Given the description of an element on the screen output the (x, y) to click on. 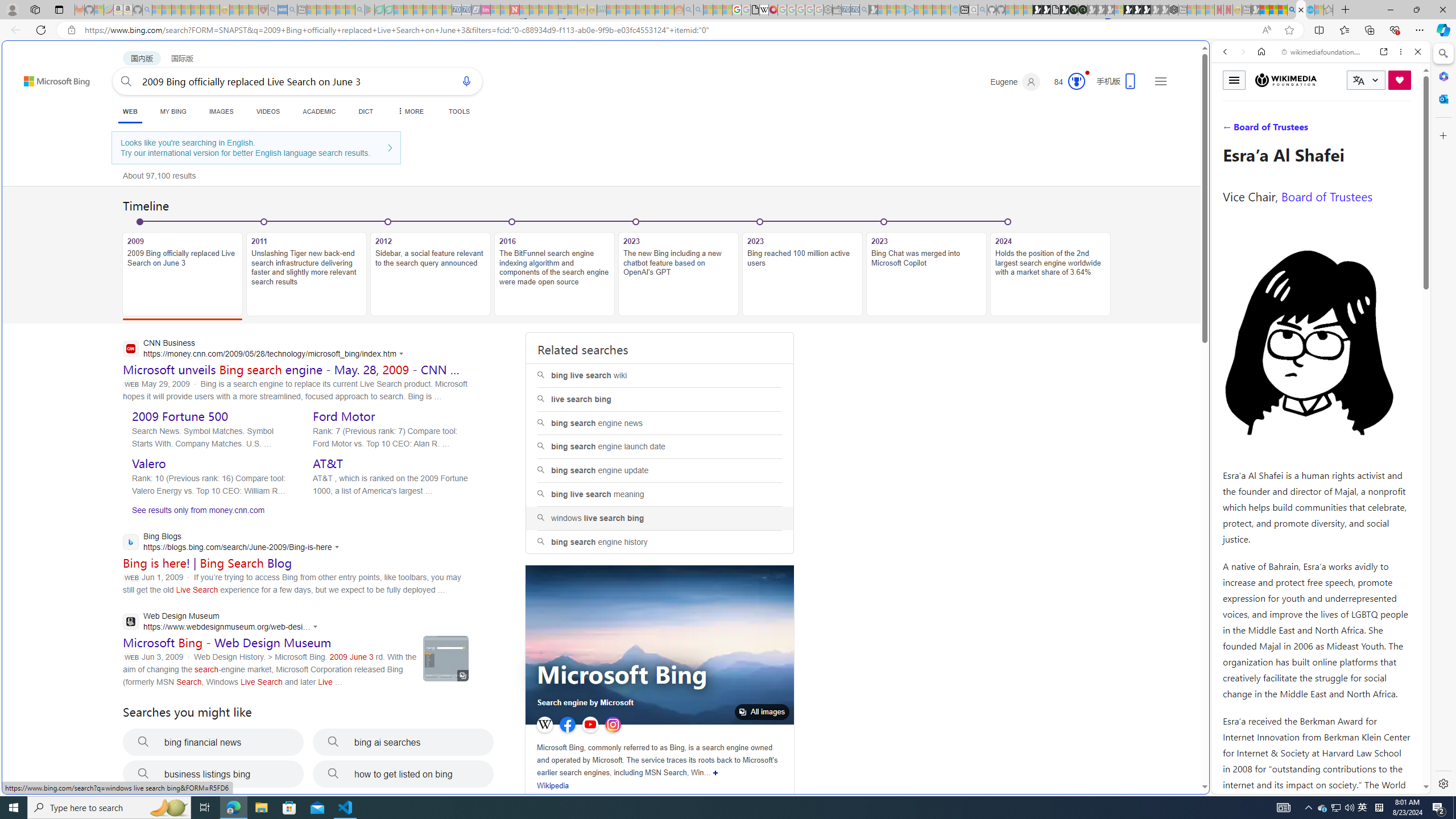
bing search engine launch date (659, 446)
utah sues federal government - Search - Sleeping (291, 9)
2023Bing reached 100 million active users (801, 267)
Valero (148, 463)
business listings bing (213, 773)
MORE (410, 111)
AT&T (328, 463)
